Given the description of an element on the screen output the (x, y) to click on. 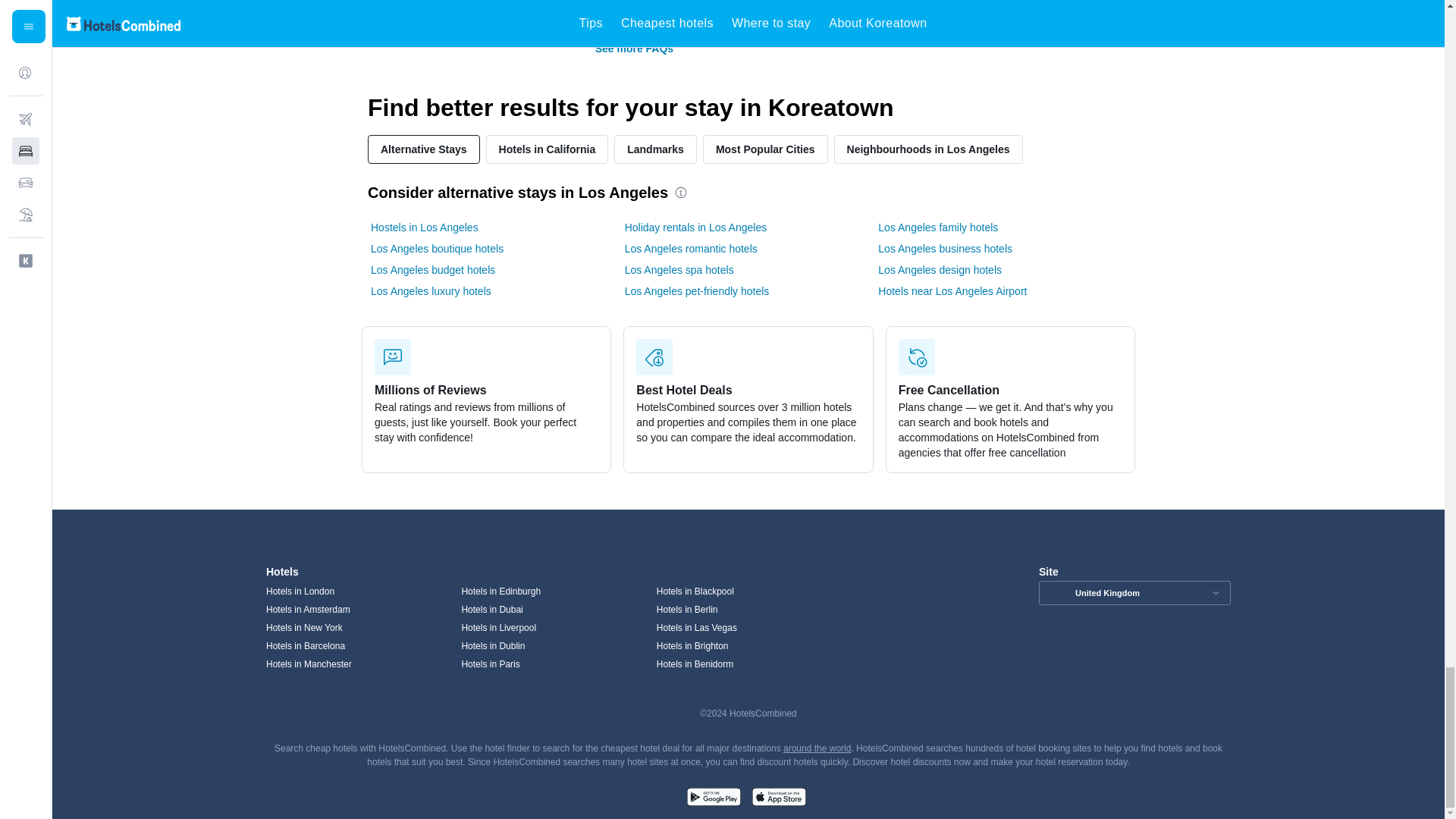
Download on the App Store (778, 798)
Get it on Google Play (713, 798)
